Given the description of an element on the screen output the (x, y) to click on. 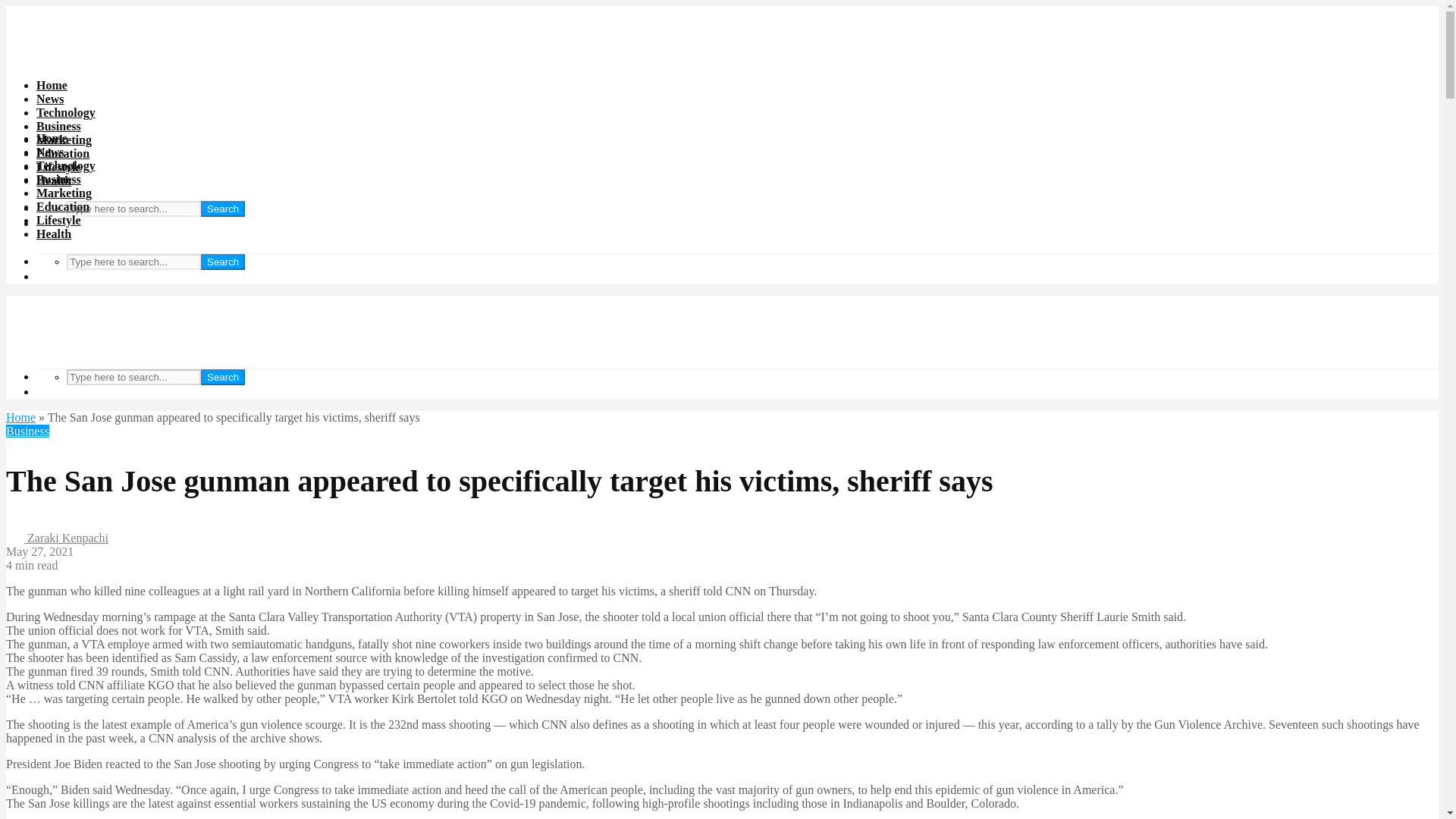
Education (62, 205)
Health (53, 180)
Health (53, 233)
Home (51, 84)
Marketing (63, 192)
Business (58, 125)
Search (222, 208)
Search (222, 261)
Education (62, 153)
Technology (66, 112)
Lifestyle (58, 166)
Lifestyle (58, 219)
Business (58, 178)
News (50, 98)
Business (27, 431)
